Given the description of an element on the screen output the (x, y) to click on. 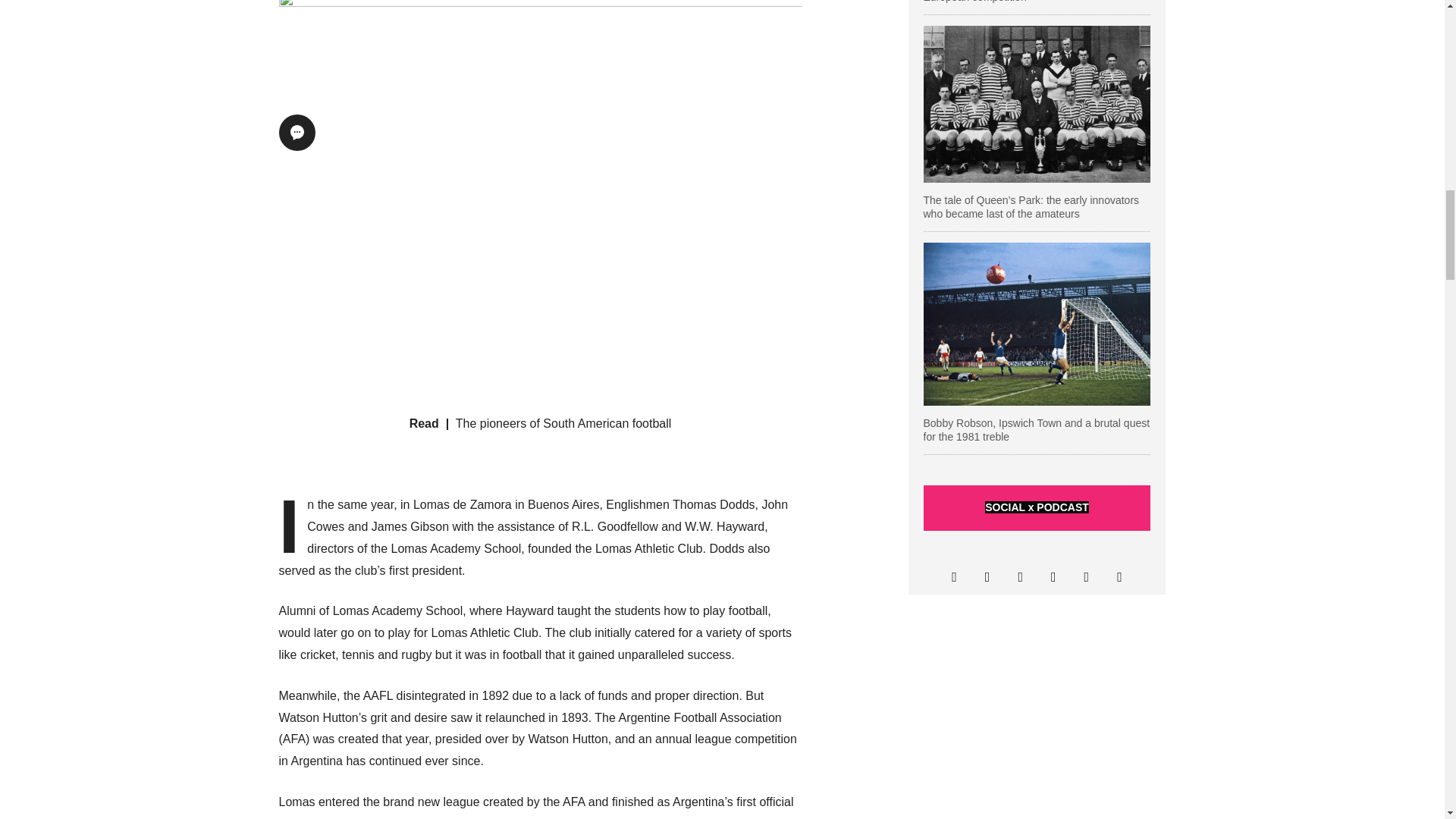
Instagram (987, 577)
Facebook (1020, 577)
Linkedin (1053, 577)
X (954, 577)
